Given the description of an element on the screen output the (x, y) to click on. 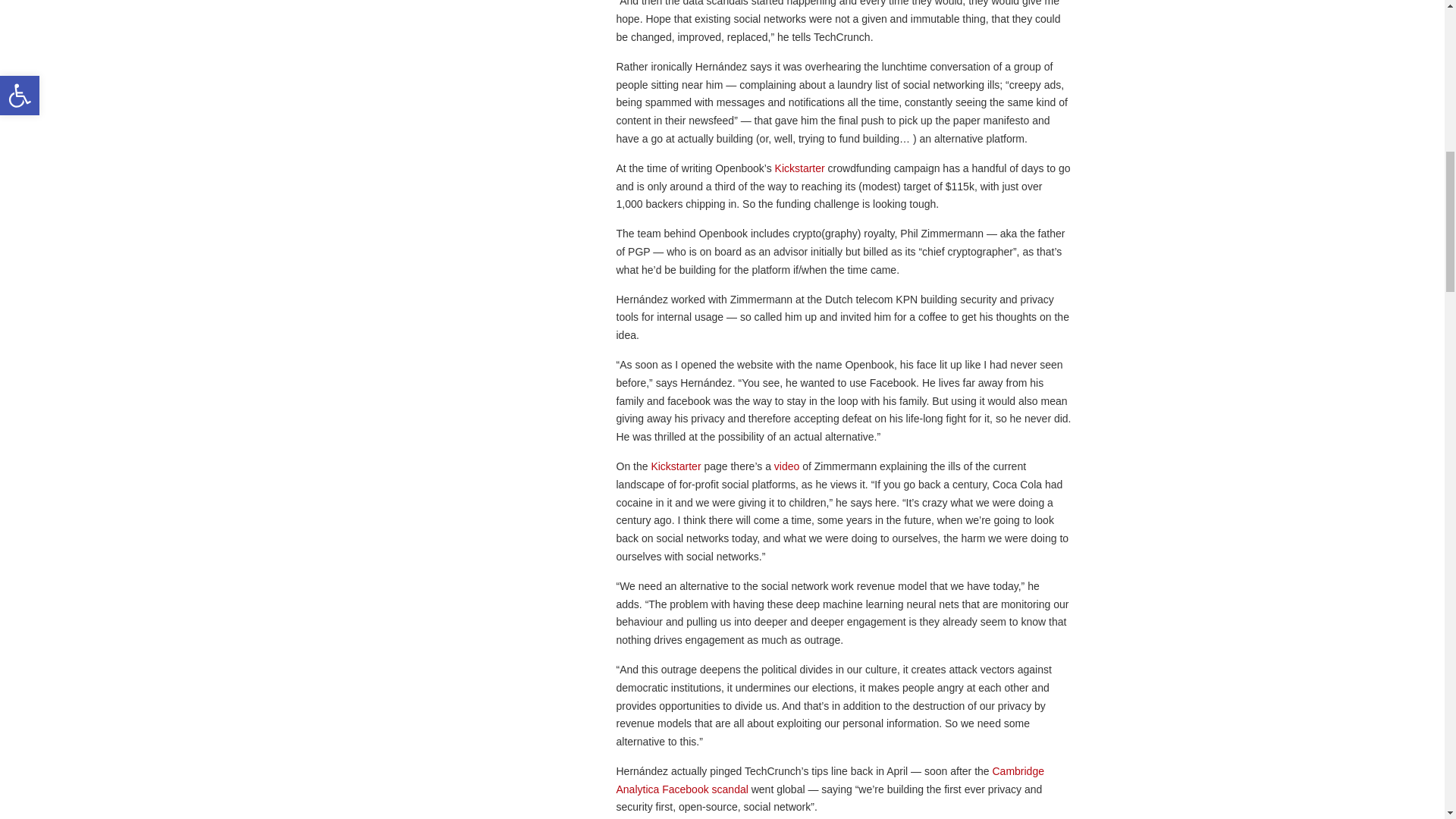
Kickstarter (676, 466)
Cambridge Analytica Facebook scandal (829, 779)
video (786, 466)
Kickstarter (799, 168)
